Given the description of an element on the screen output the (x, y) to click on. 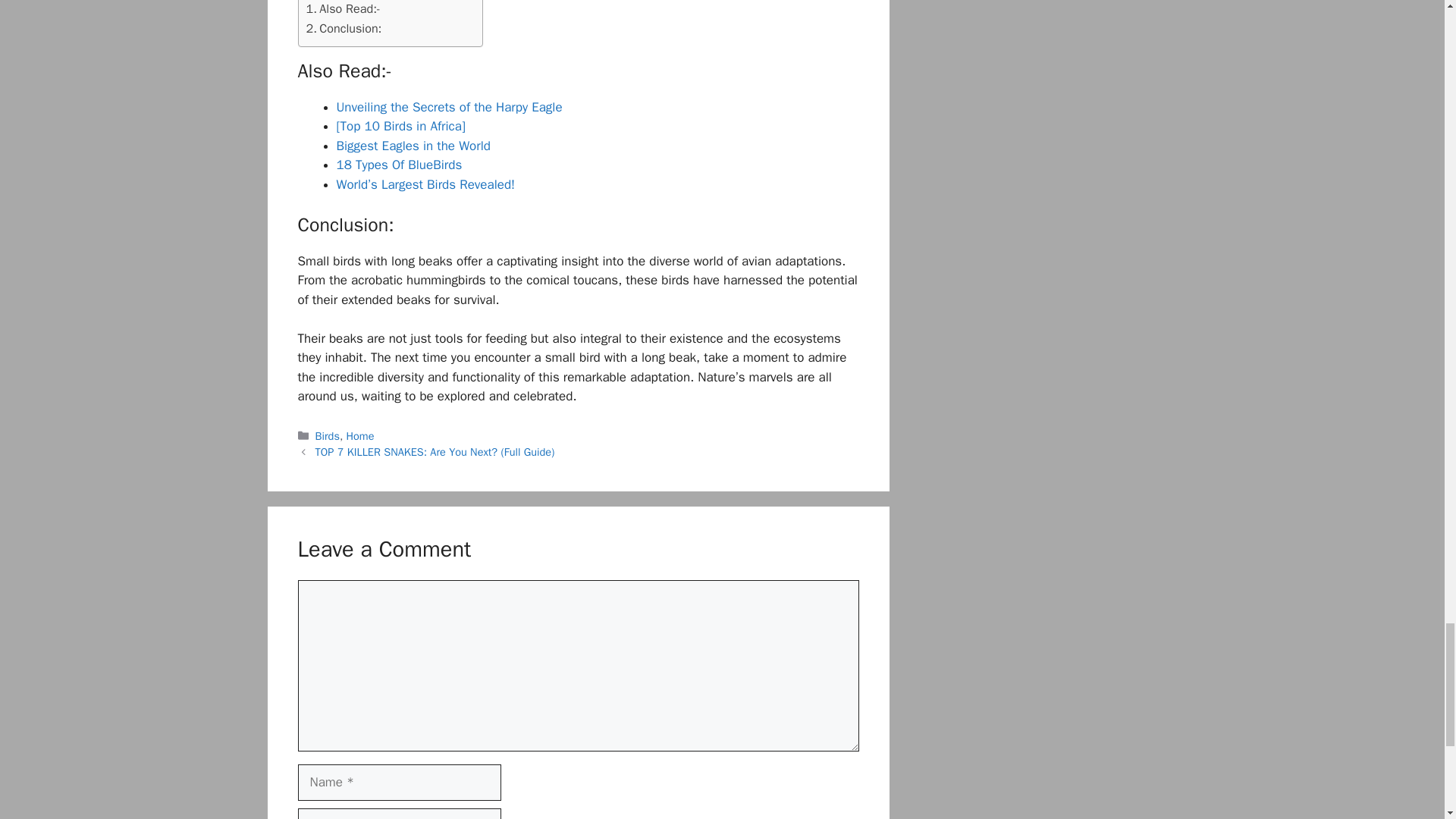
Biggest Eagles in the World (413, 145)
Home (360, 436)
Conclusion:  (343, 28)
Birds (327, 436)
Conclusion: (343, 28)
Also Read:- (342, 9)
Unveiling the Secrets of the Harpy Eagle (449, 107)
Also Read:- (342, 9)
18 Types Of BlueBirds (399, 164)
